Given the description of an element on the screen output the (x, y) to click on. 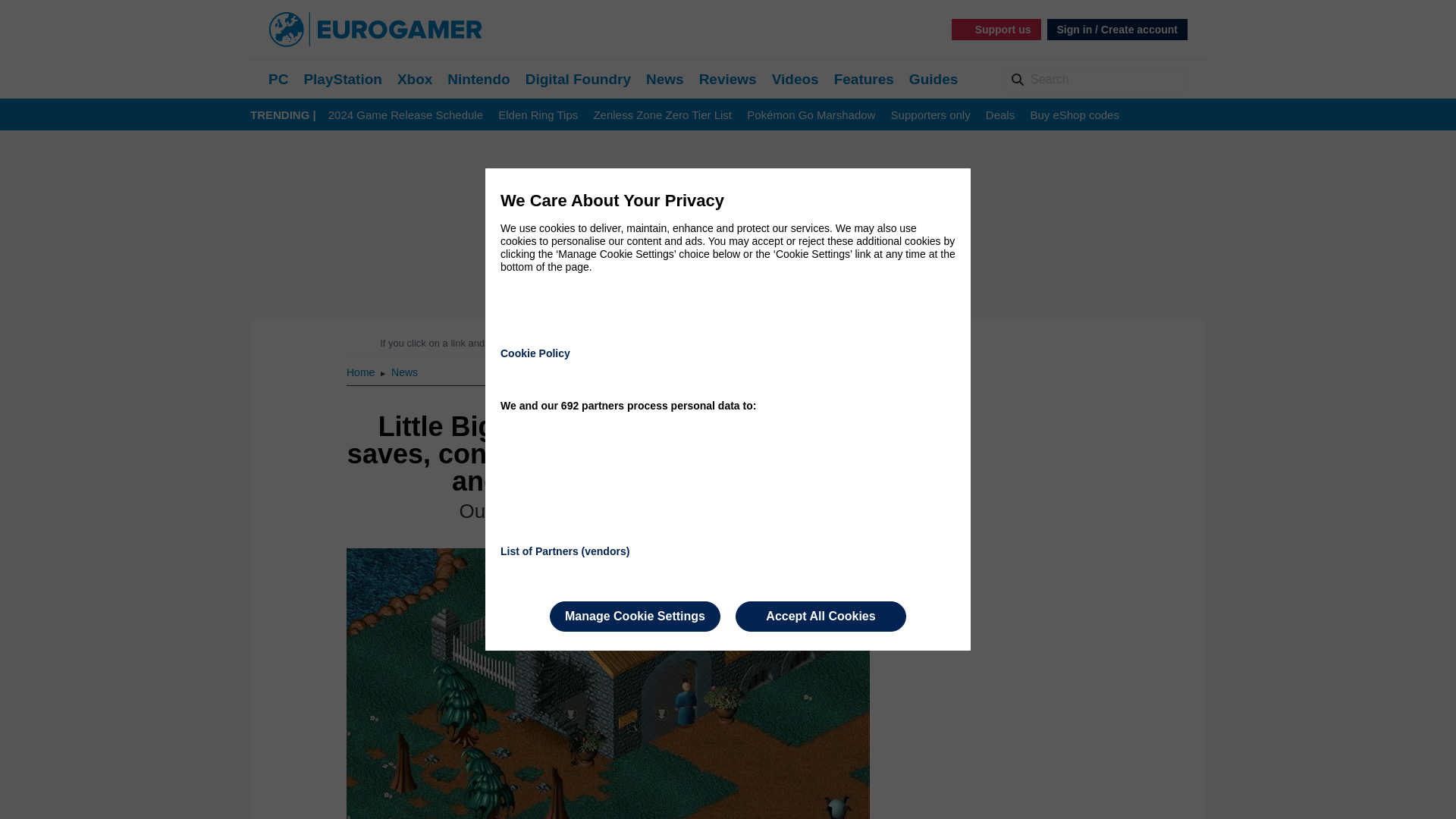
Guides (933, 78)
Digital Foundry (577, 78)
News (665, 78)
Reviews (727, 78)
Guides (933, 78)
PlayStation (341, 78)
News (404, 372)
Elden Ring Tips (537, 114)
Deals (999, 114)
Zenless Zone Zero Tier List (662, 114)
Nintendo (477, 78)
Videos (794, 78)
Nintendo (477, 78)
Supporters only (931, 114)
Supporters only (931, 114)
